Given the description of an element on the screen output the (x, y) to click on. 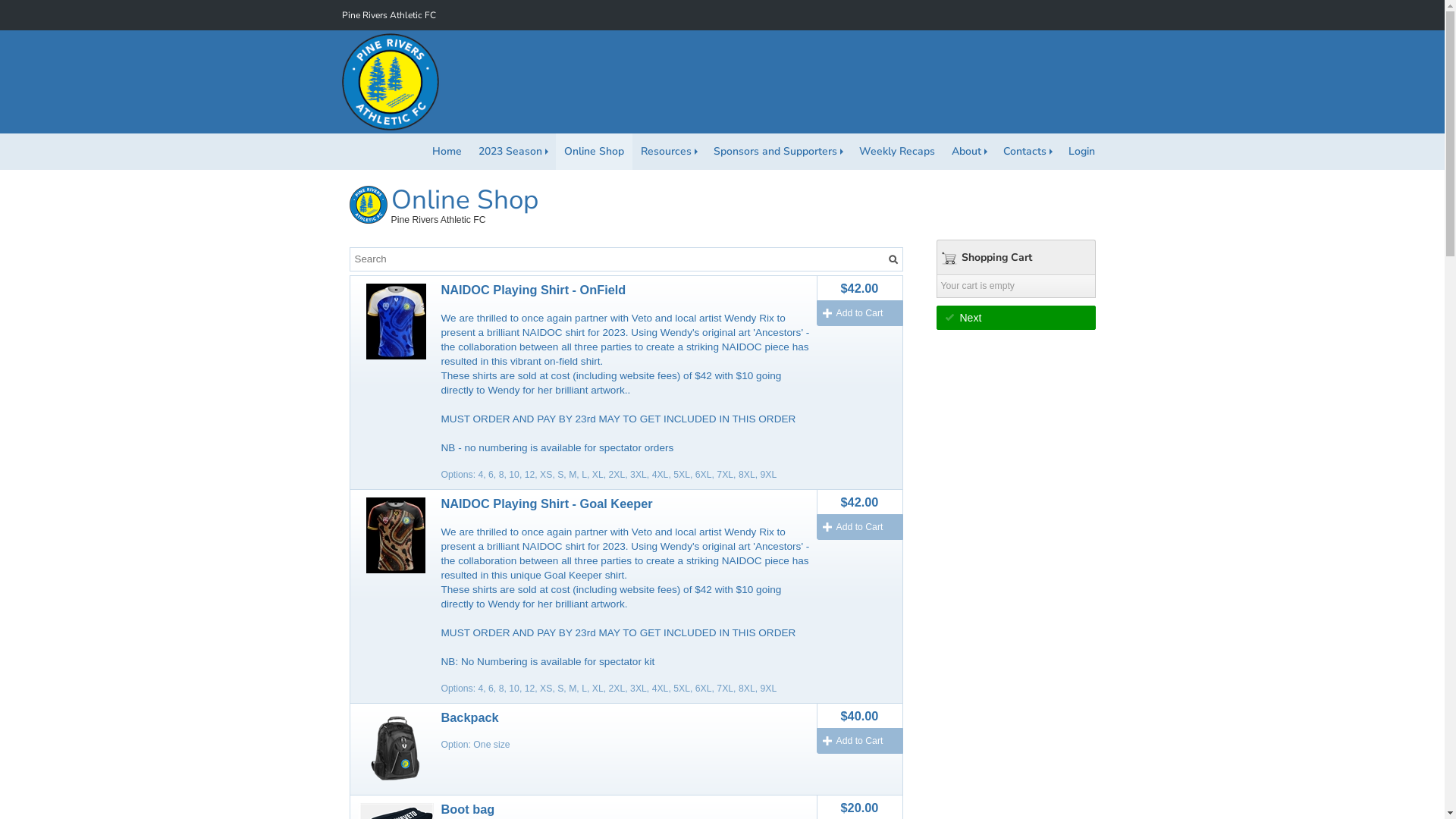
Home Element type: text (446, 151)
Add to Cart Element type: text (858, 740)
Weekly Recaps Element type: text (896, 151)
Online Shop Element type: text (593, 151)
Pine Rivers Athletic FC Element type: text (387, 15)
Login Element type: text (1081, 151)
Contacts Element type: text (1027, 151)
Next Element type: text (1015, 317)
Add to Cart Element type: text (858, 313)
2023 Season Element type: text (512, 151)
About Element type: text (968, 151)
Sponsors and Supporters Element type: text (777, 151)
Add to Cart Element type: text (858, 526)
Resources Element type: text (668, 151)
